Given the description of an element on the screen output the (x, y) to click on. 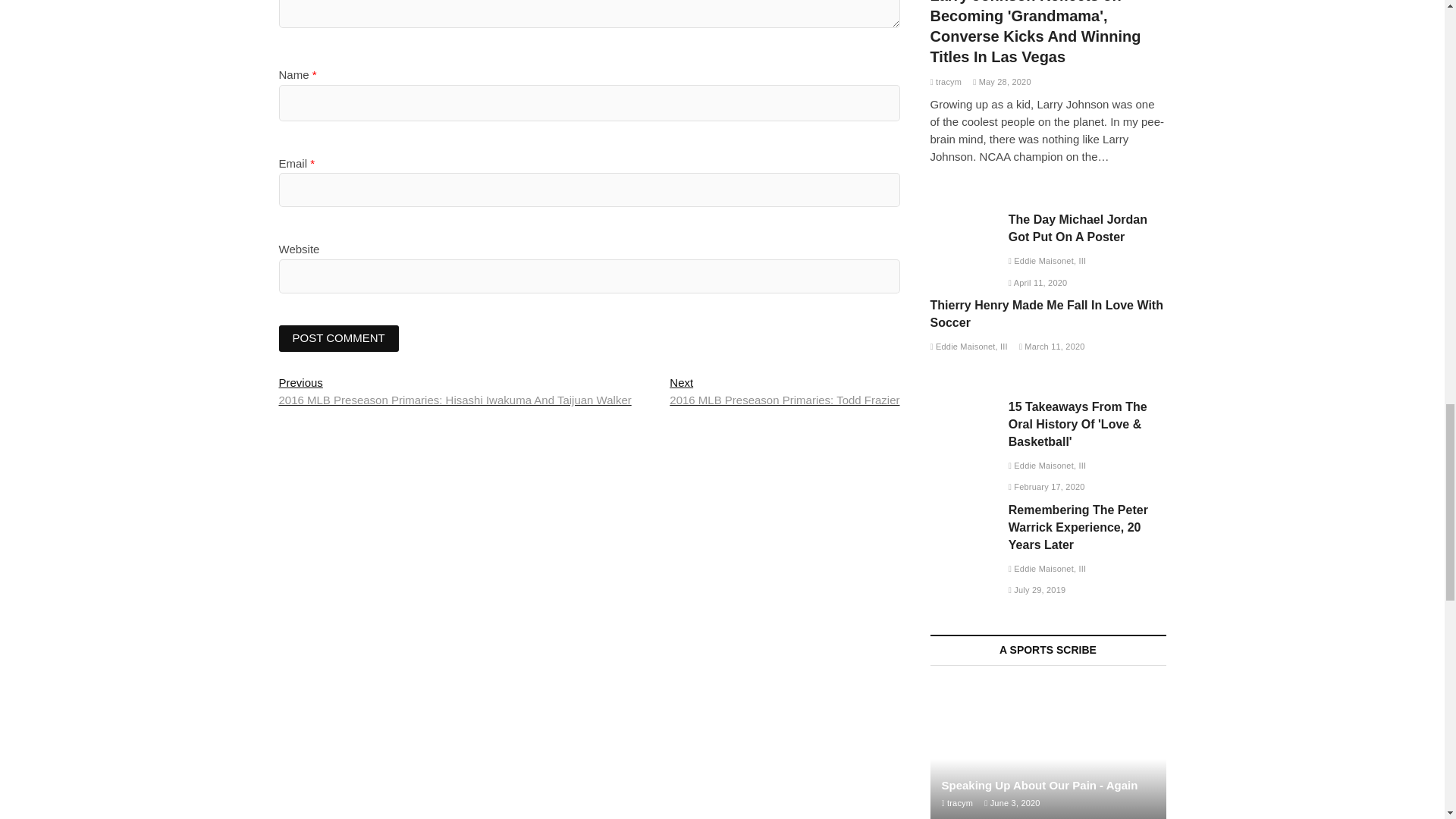
Post Comment (338, 338)
